Given the description of an element on the screen output the (x, y) to click on. 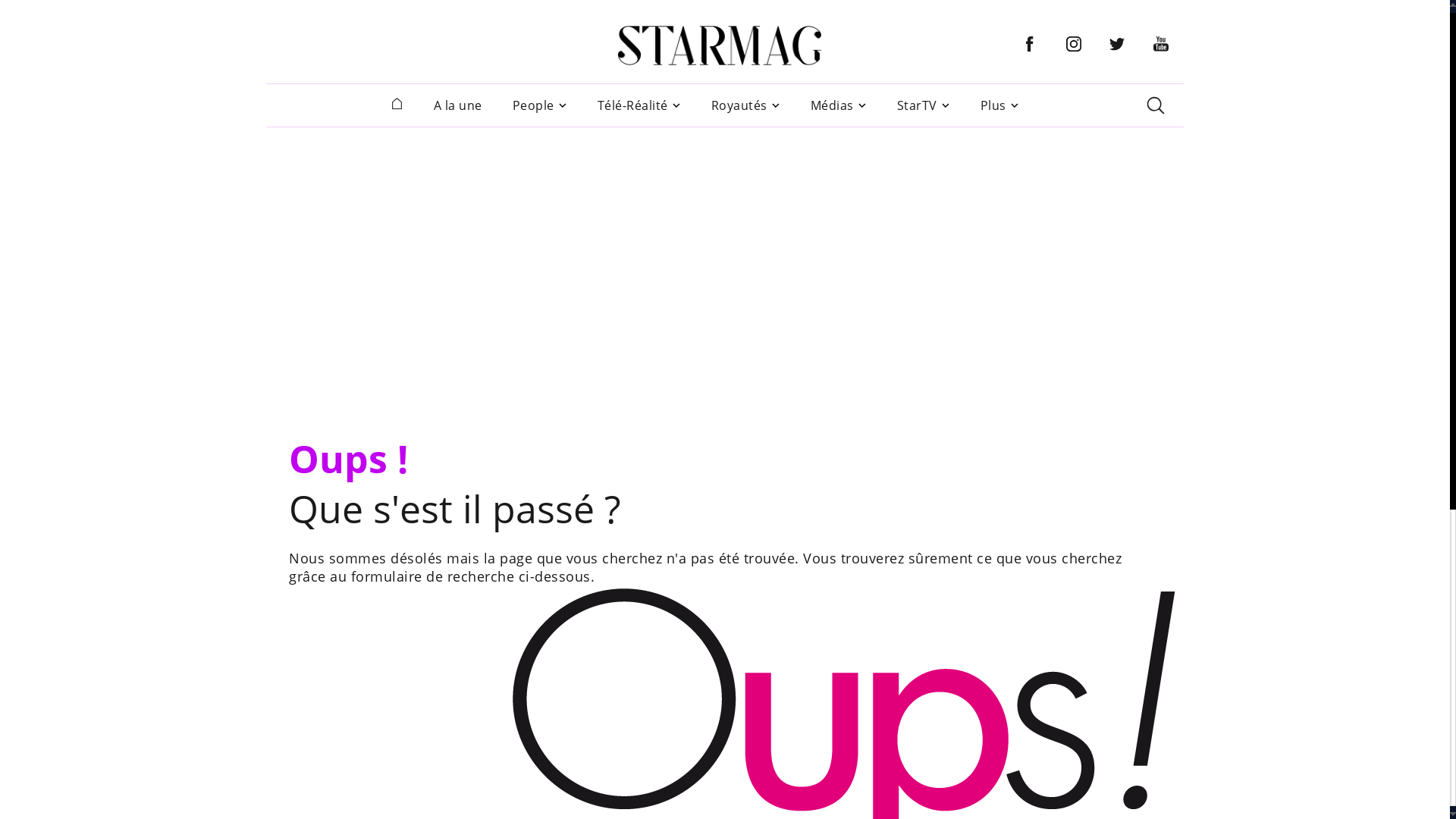
People Element type: text (533, 104)
StarMag.com Element type: hover (719, 45)
A la une Element type: text (457, 104)
StarTV Element type: text (916, 104)
